Given the description of an element on the screen output the (x, y) to click on. 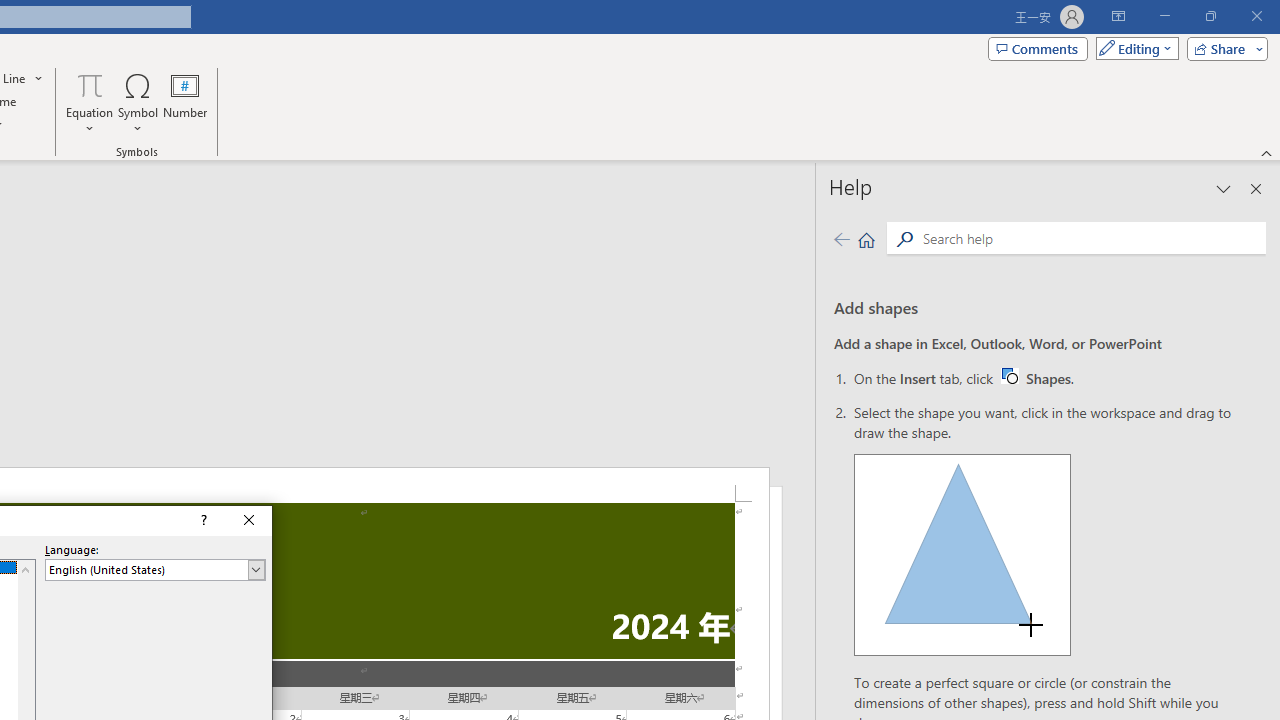
Equation (90, 102)
Previous page (841, 238)
Number... (185, 102)
Word W32 Shapes button icon (1009, 375)
Line up (1044, 377)
